Given the description of an element on the screen output the (x, y) to click on. 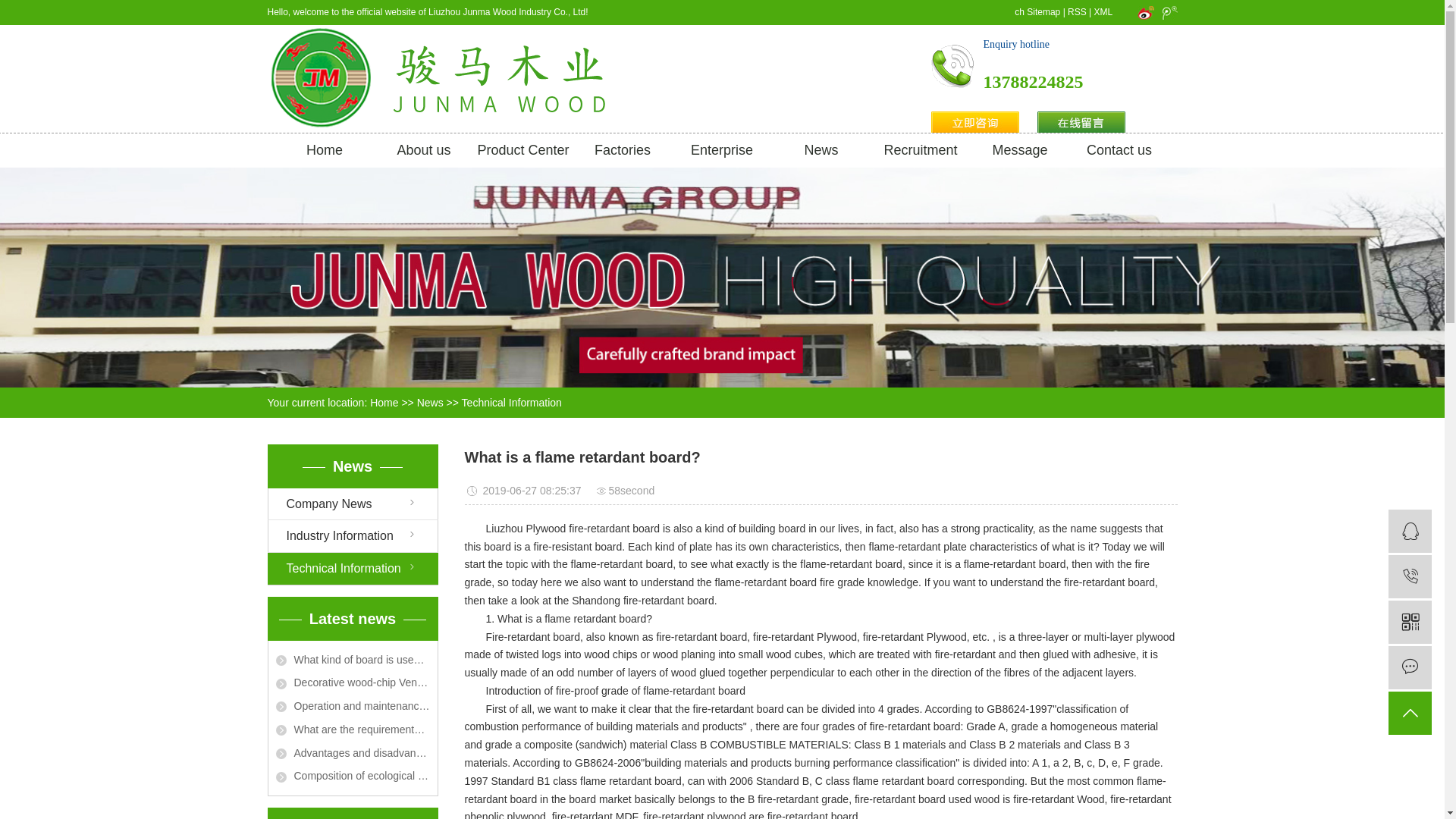
XML (1103, 11)
Advantages and disadvantages of eco-board (352, 753)
RSS (1076, 11)
Decorative wood-chip Veneer fire-retardant board (352, 682)
1511142818461774.png (1080, 123)
Enterprise (721, 150)
Sitemap (1042, 11)
Factories (622, 150)
Operation and maintenance of packing plate (352, 706)
1514353992620905.png (952, 65)
About us (424, 150)
Product Center (522, 150)
What kind of board is used for the decoration (352, 659)
Home (324, 150)
News (820, 150)
